Given the description of an element on the screen output the (x, y) to click on. 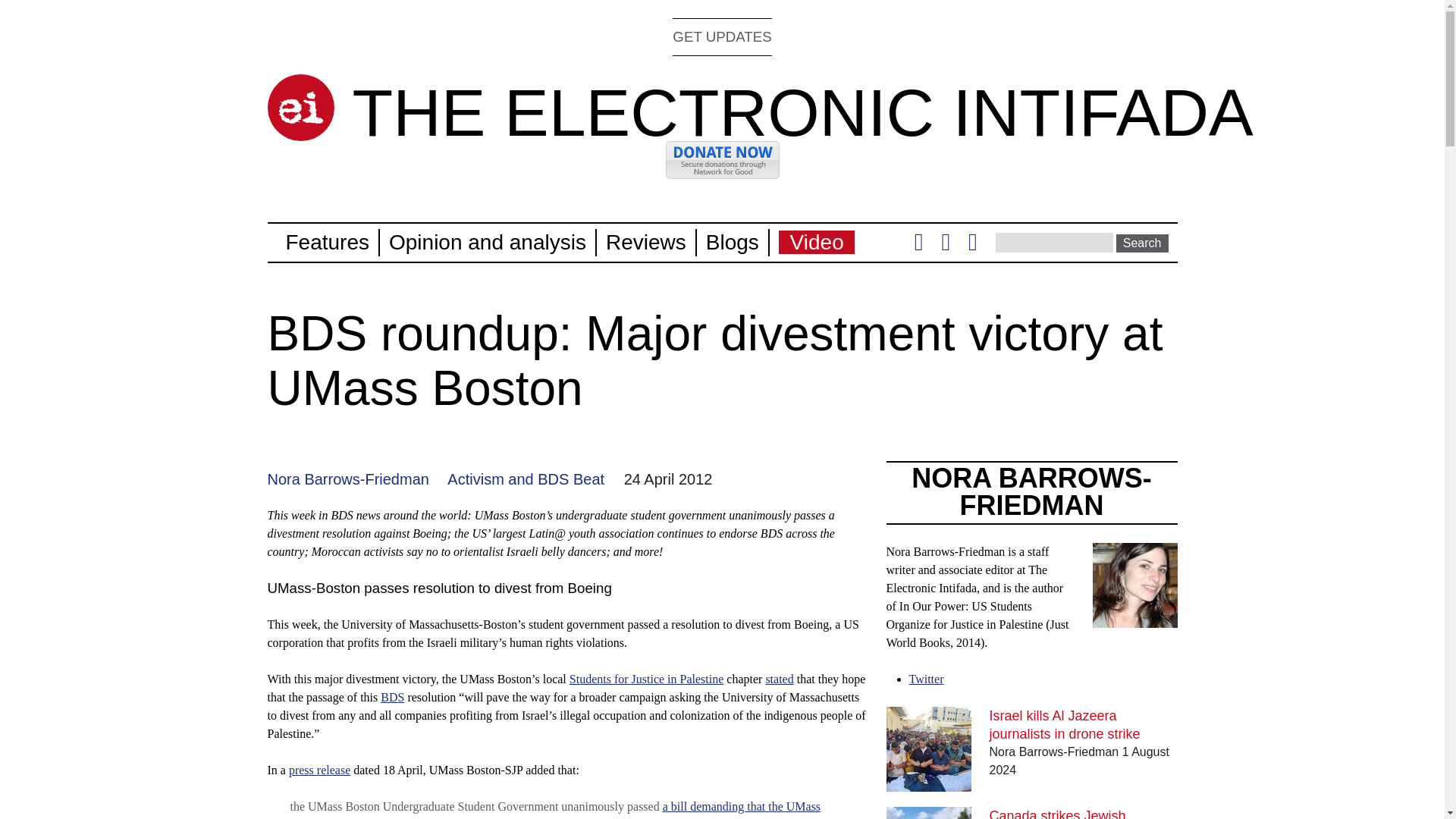
Home (802, 112)
THE ELECTRONIC INTIFADA (802, 112)
Search (1142, 243)
GET UPDATES (721, 37)
press release (319, 769)
stated (779, 678)
BDS (392, 697)
Nora Barrows-Friedman (347, 478)
Home (299, 107)
Enter the terms you wish to search for. (1054, 242)
Nora Barrows-Friedman's picture (1134, 585)
Students for Justice in Palestine (646, 678)
Nora Barrows-Friedman's picture (1134, 617)
Activism and BDS Beat (525, 478)
